Given the description of an element on the screen output the (x, y) to click on. 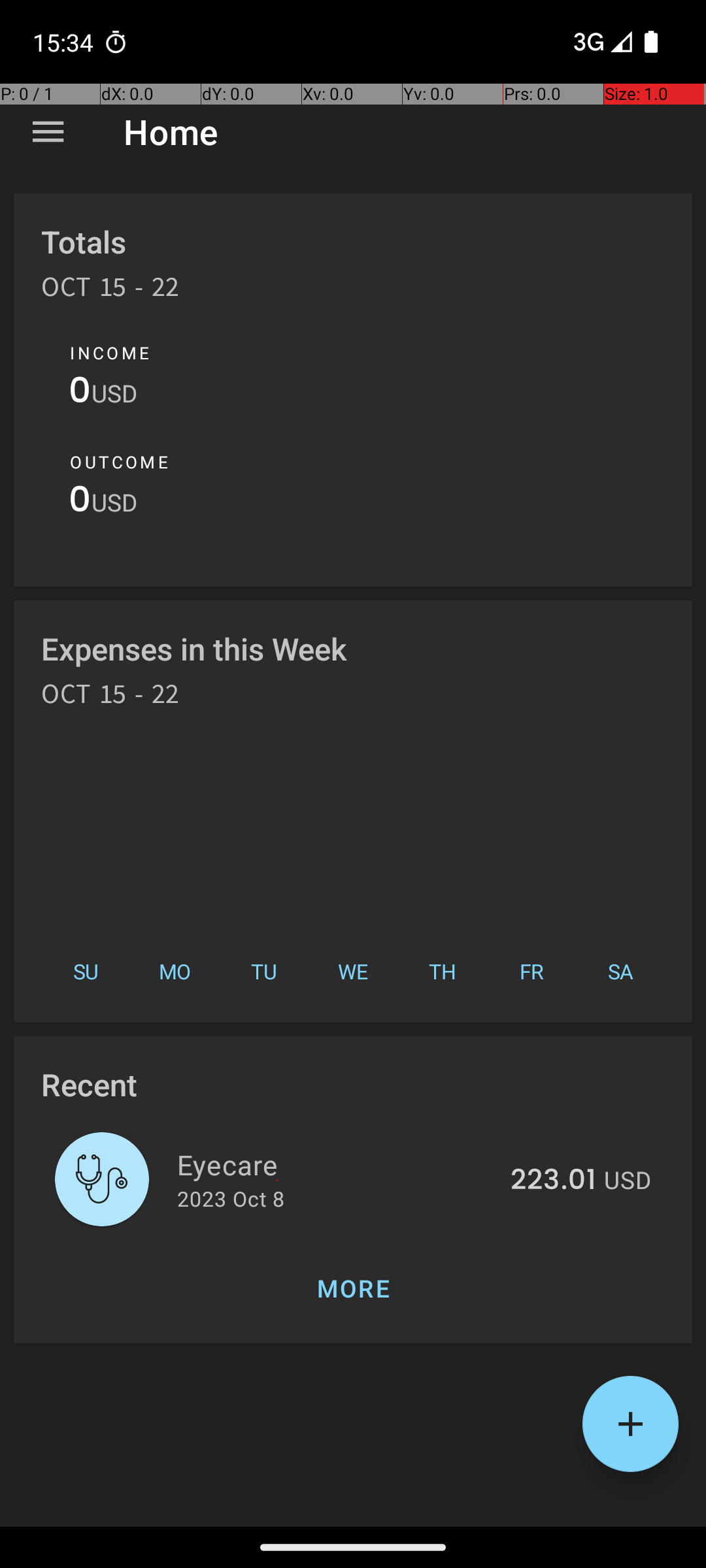
223.01 Element type: android.widget.TextView (552, 1180)
